Given the description of an element on the screen output the (x, y) to click on. 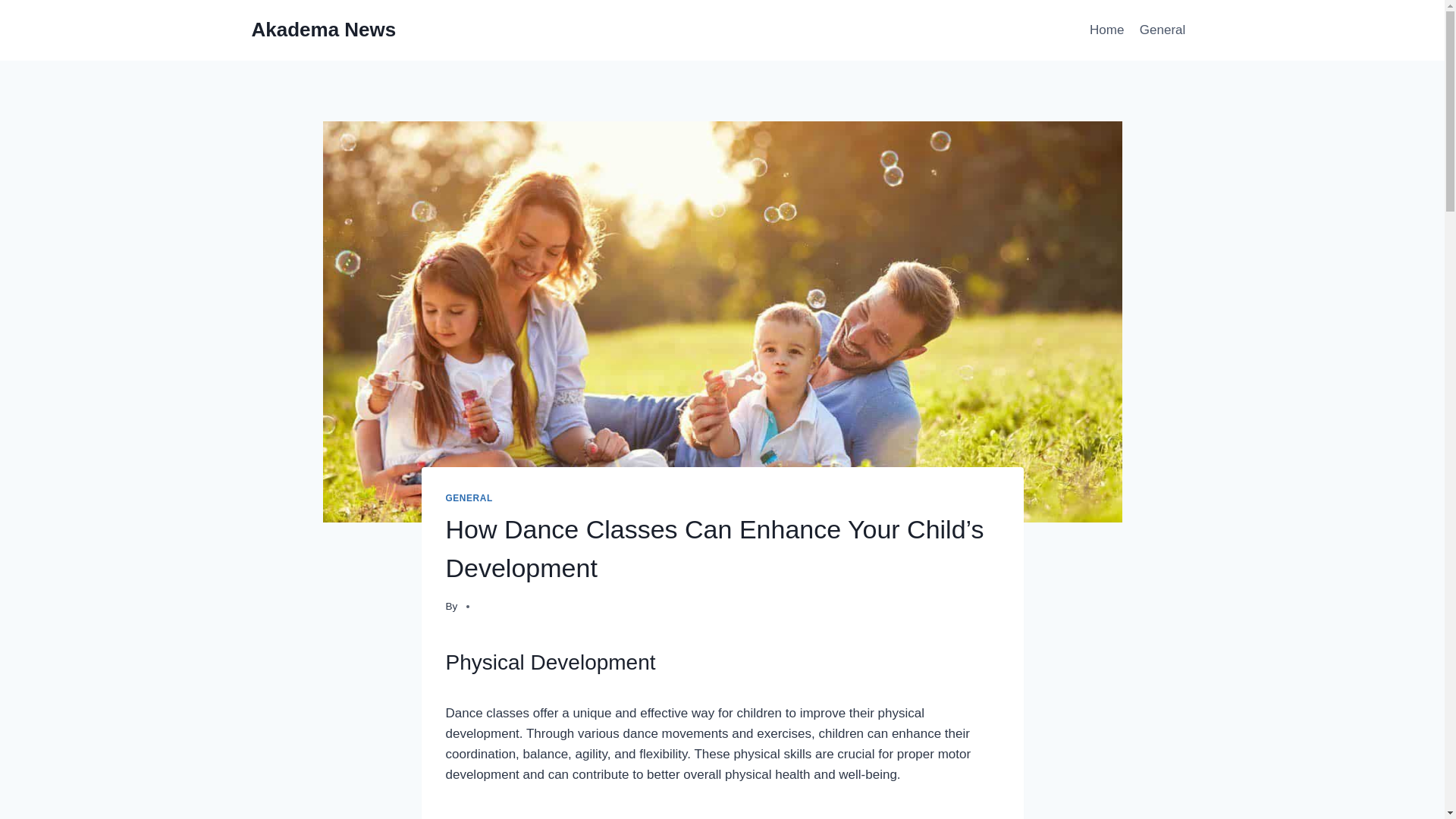
GENERAL (469, 498)
Home (1106, 30)
General (1162, 30)
Akadema News (323, 29)
